Given the description of an element on the screen output the (x, y) to click on. 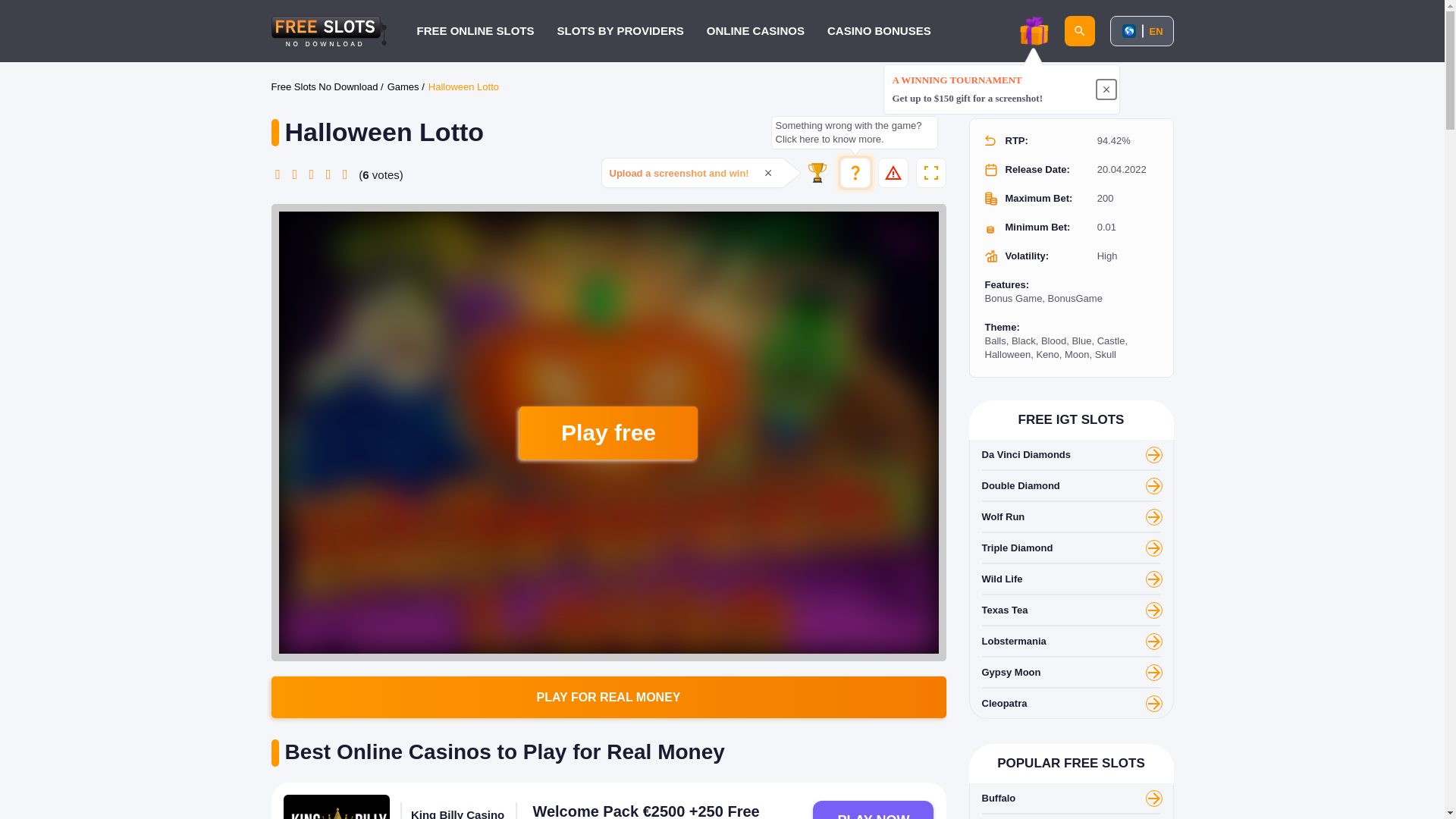
Bug Report (892, 173)
FREE ONLINE SLOTS (475, 30)
Full Screen (930, 173)
